Given the description of an element on the screen output the (x, y) to click on. 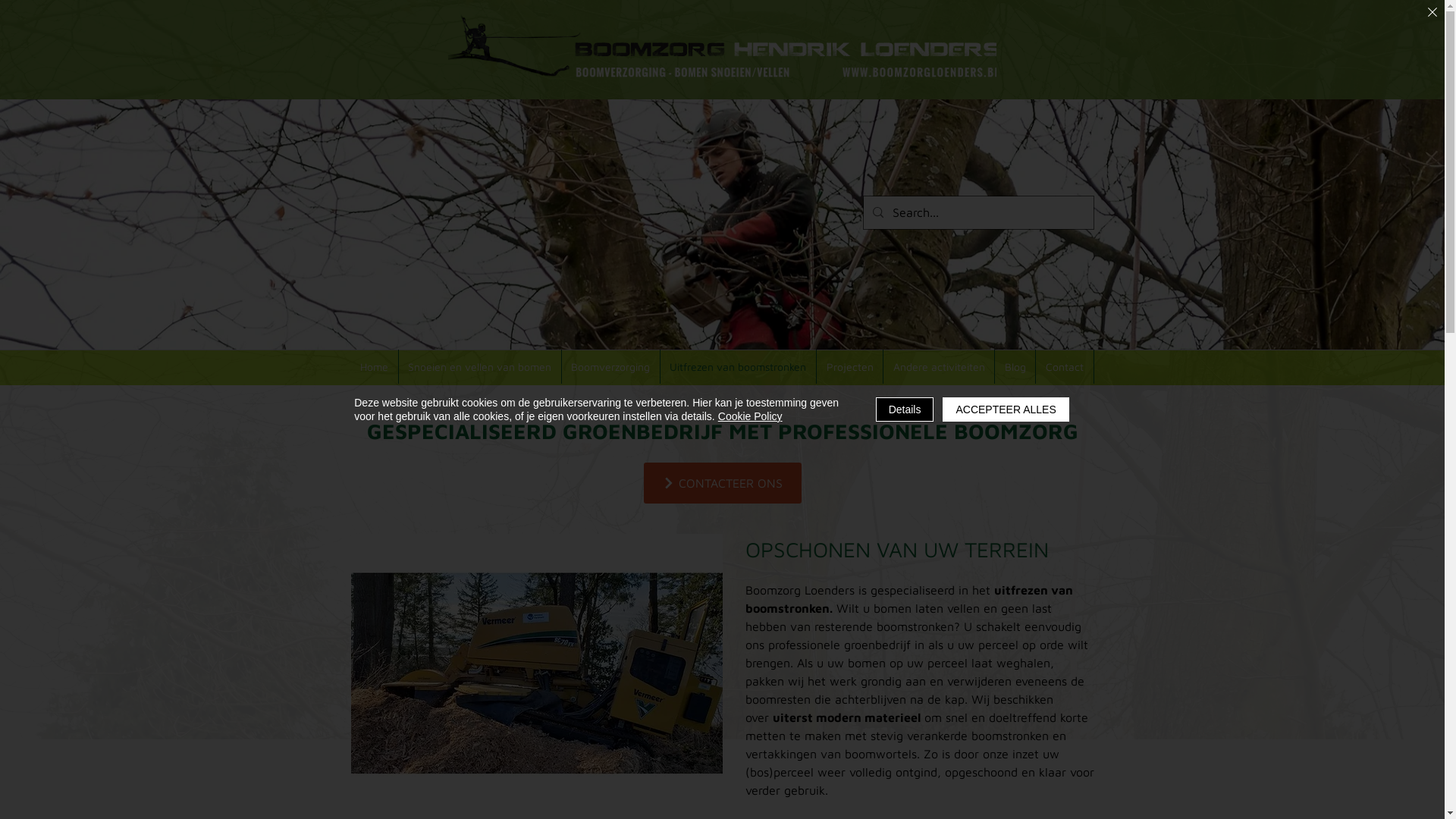
Home Element type: text (374, 366)
Projecten Element type: text (849, 366)
Snoeien en vellen van bomen Element type: text (479, 366)
CONTACTEER ONS Element type: text (721, 482)
Cookie Policy Element type: text (750, 416)
Details Element type: text (904, 409)
Andere activiteiten Element type: text (938, 366)
Uitfrezen van boomstronken Element type: text (738, 366)
Boomverzorging Element type: text (610, 366)
Blog Element type: text (1014, 366)
ACCEPTEER ALLES Element type: text (1005, 409)
Contact Element type: text (1064, 366)
